Given the description of an element on the screen output the (x, y) to click on. 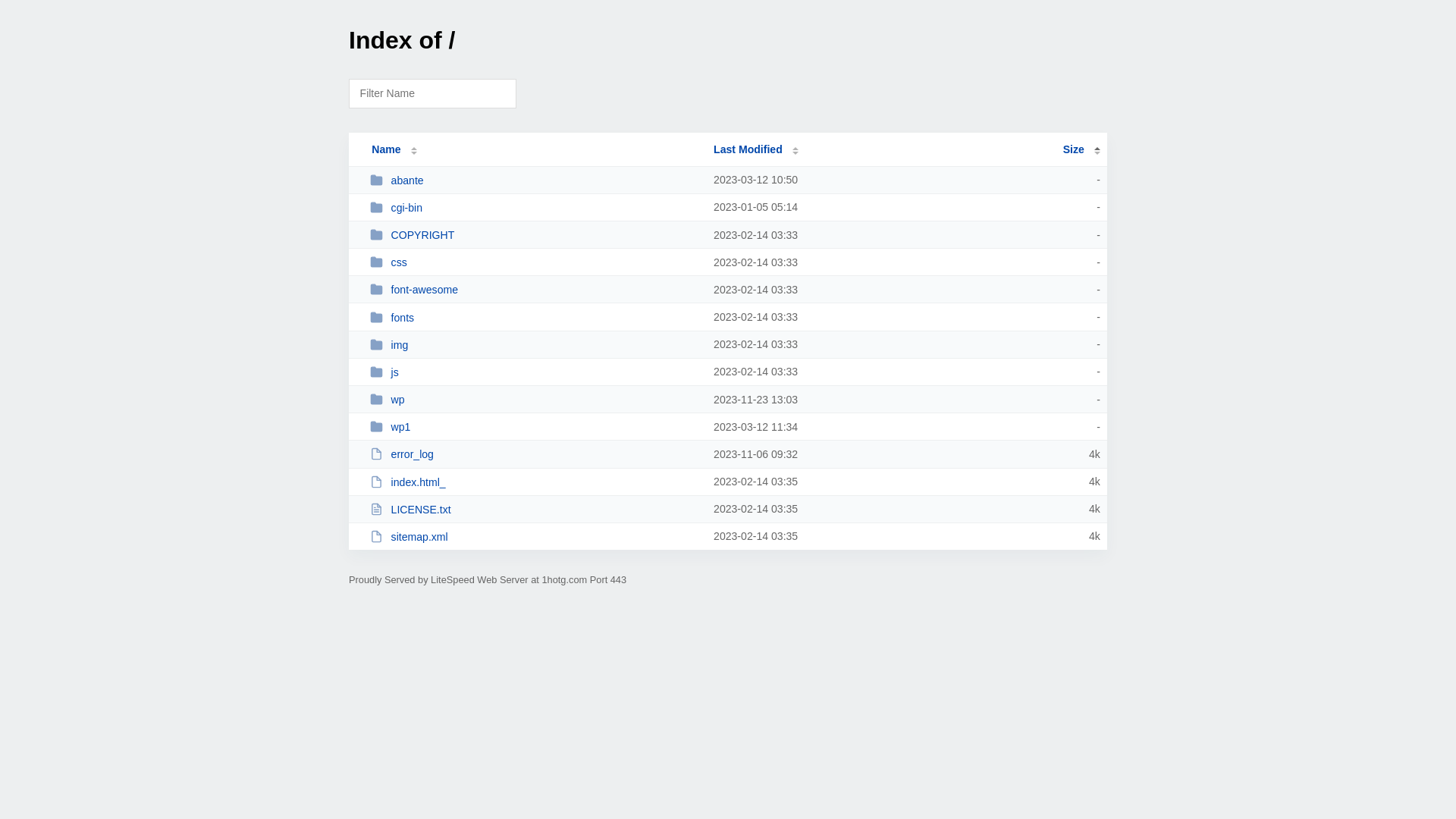
index.html_ Element type: text (534, 481)
Last Modified Element type: text (755, 149)
sitemap.xml Element type: text (534, 536)
js Element type: text (534, 371)
abante Element type: text (534, 179)
Size Element type: text (1081, 149)
font-awesome Element type: text (534, 288)
COPYRIGHT Element type: text (534, 234)
Name Element type: text (385, 149)
css Element type: text (534, 261)
img Element type: text (534, 344)
LICENSE.txt Element type: text (534, 508)
error_log Element type: text (534, 453)
fonts Element type: text (534, 316)
wp1 Element type: text (534, 426)
wp Element type: text (534, 398)
cgi-bin Element type: text (534, 206)
